Given the description of an element on the screen output the (x, y) to click on. 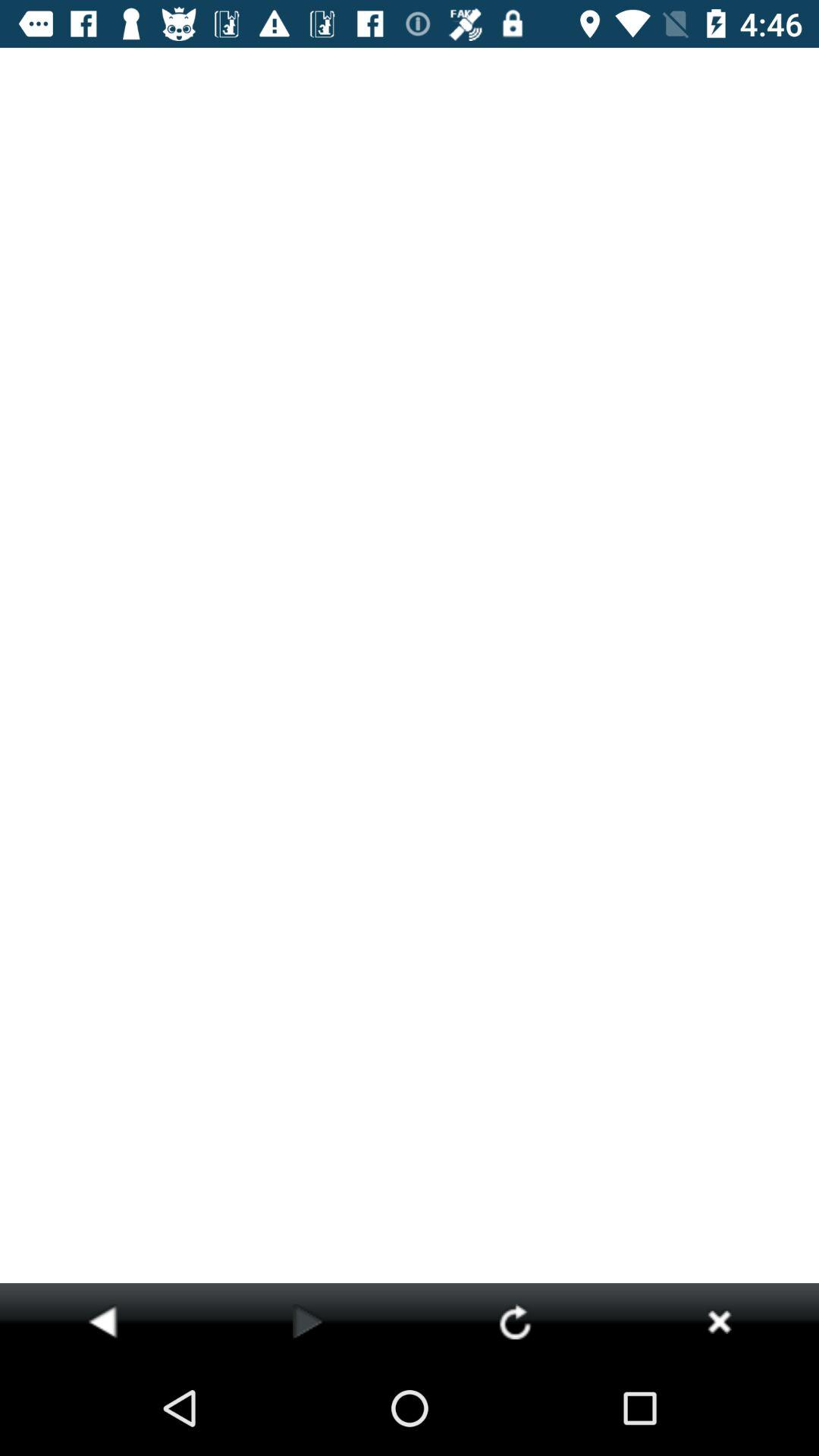
reload current (514, 1321)
